Given the description of an element on the screen output the (x, y) to click on. 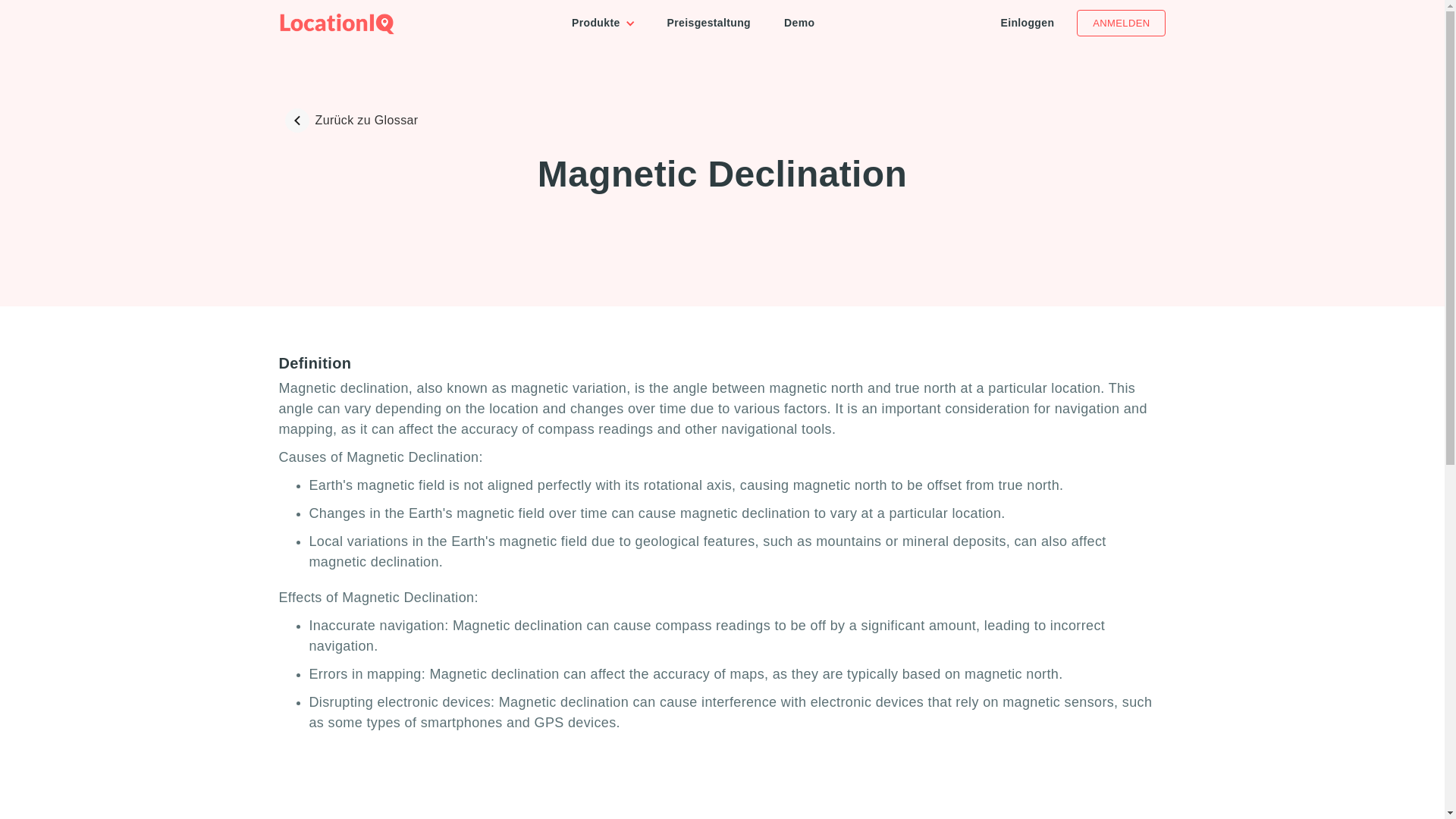
ANMELDEN (1121, 22)
Einloggen (1027, 22)
Demo (799, 22)
Preisgestaltung (708, 22)
